Given the description of an element on the screen output the (x, y) to click on. 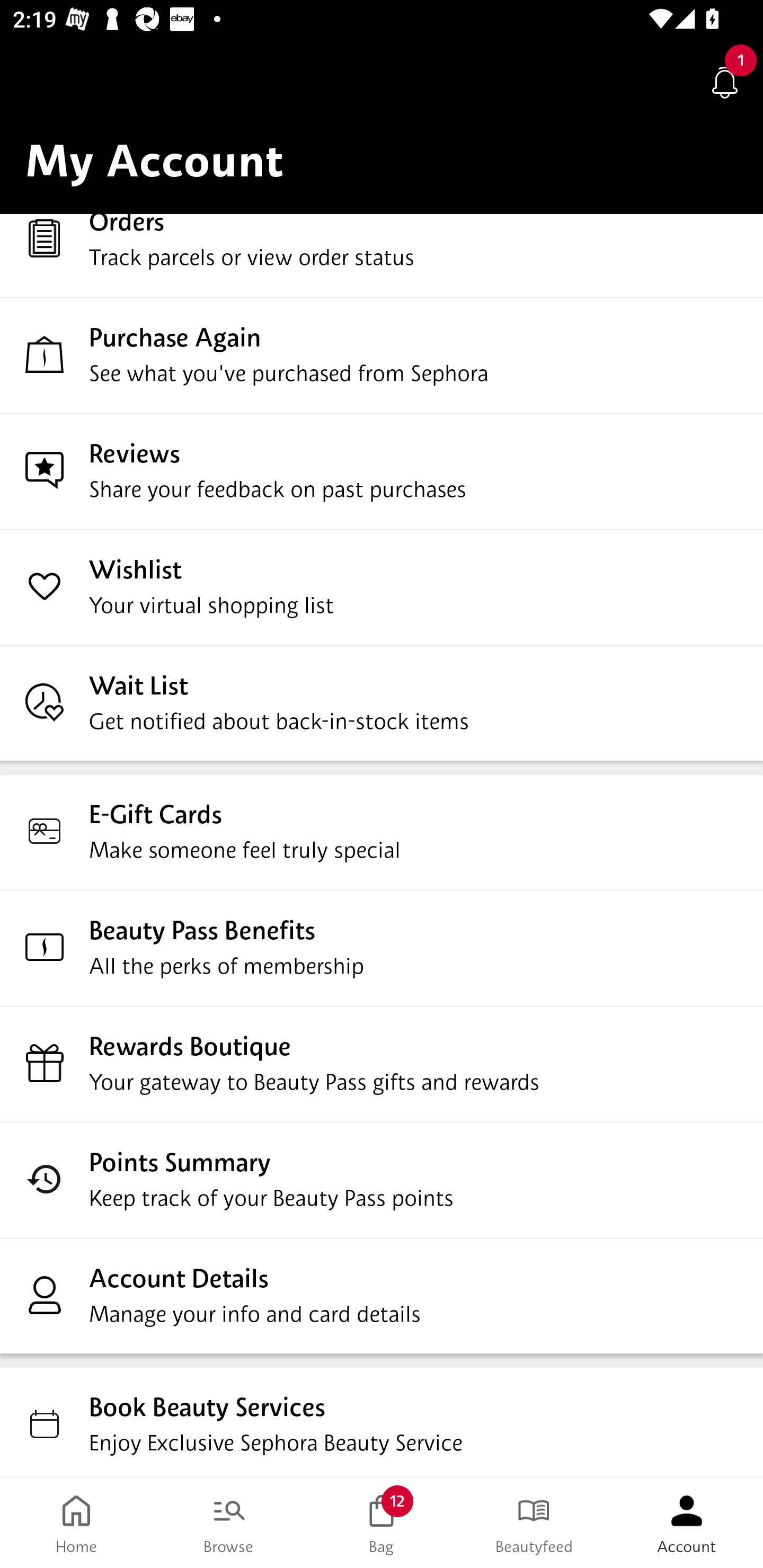
Notifications (724, 81)
Orders Track parcels or view order status (381, 254)
Reviews Share your feedback on past purchases (381, 470)
Wishlist Your virtual shopping list (381, 586)
Wait List Get notified about back-in-stock items (381, 702)
E-Gift Cards Make someone feel truly special (381, 831)
Beauty Pass Benefits All the perks of membership (381, 947)
Account Details Manage your info and card details (381, 1295)
Home (76, 1523)
Browse (228, 1523)
Bag 12 Bag (381, 1523)
Beautyfeed (533, 1523)
